Given the description of an element on the screen output the (x, y) to click on. 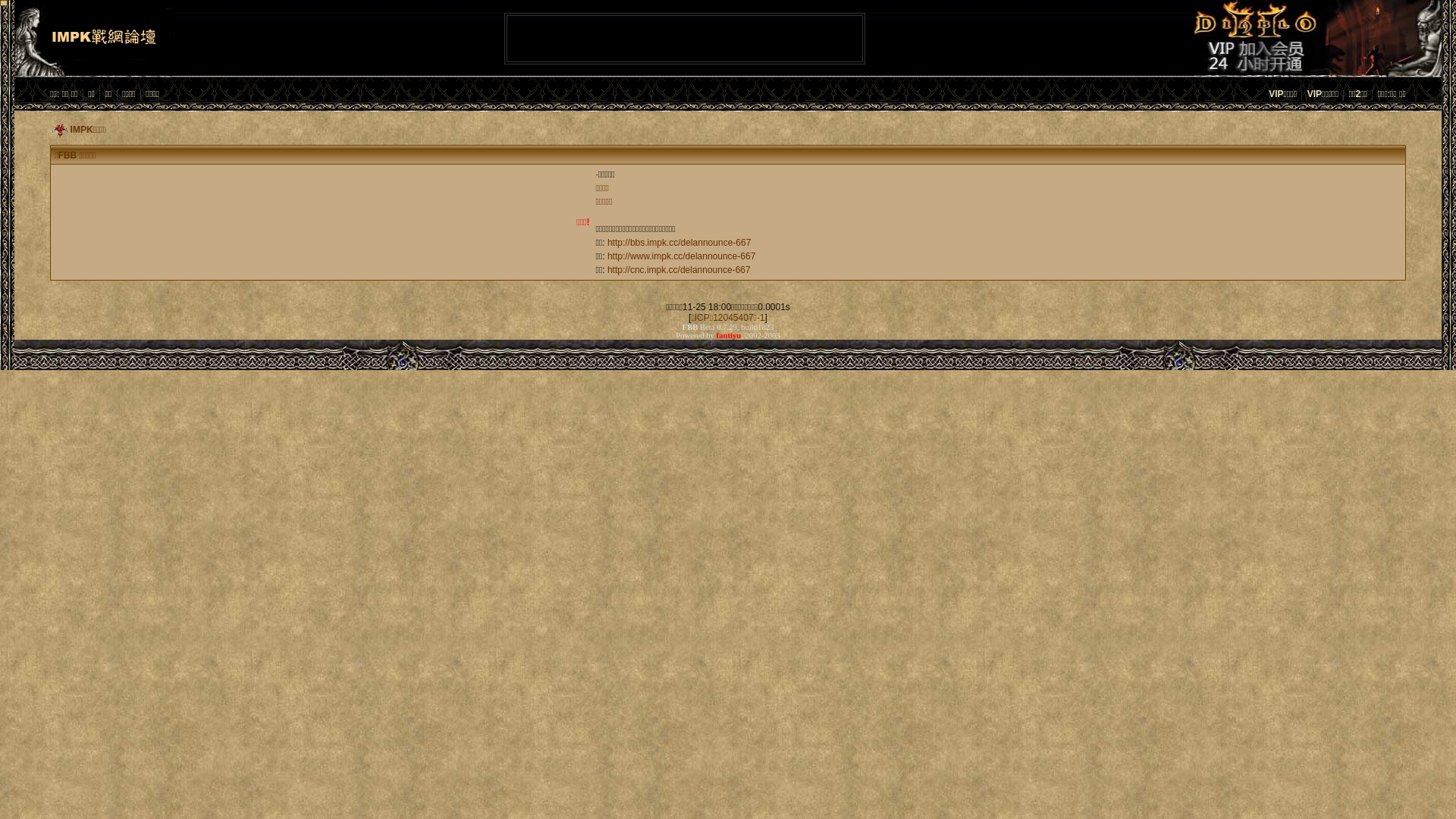
http://bbs.impk.cc/delannounce-667 Element type: text (678, 242)
http://www.impk.cc/delannounce-667 Element type: text (681, 256)
http://cnc.impk.cc/delannounce-667 Element type: text (678, 269)
